Given the description of an element on the screen output the (x, y) to click on. 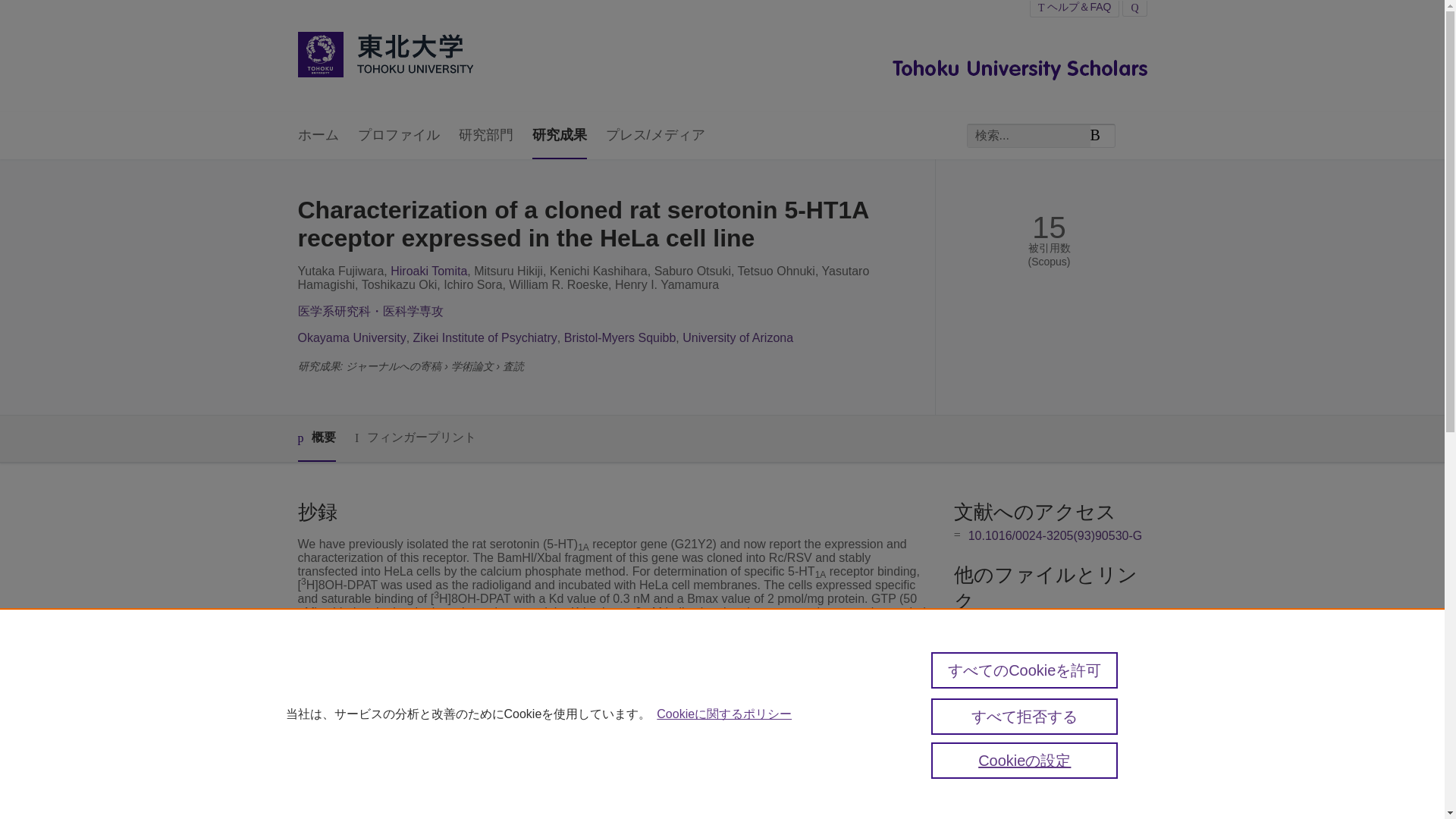
University of Arizona (737, 337)
Okayama University (351, 337)
Hiroaki Tomita (428, 270)
Life Sciences (546, 789)
Zikei Institute of Psychiatry (485, 337)
Bristol-Myers Squibb (620, 337)
